Given the description of an element on the screen output the (x, y) to click on. 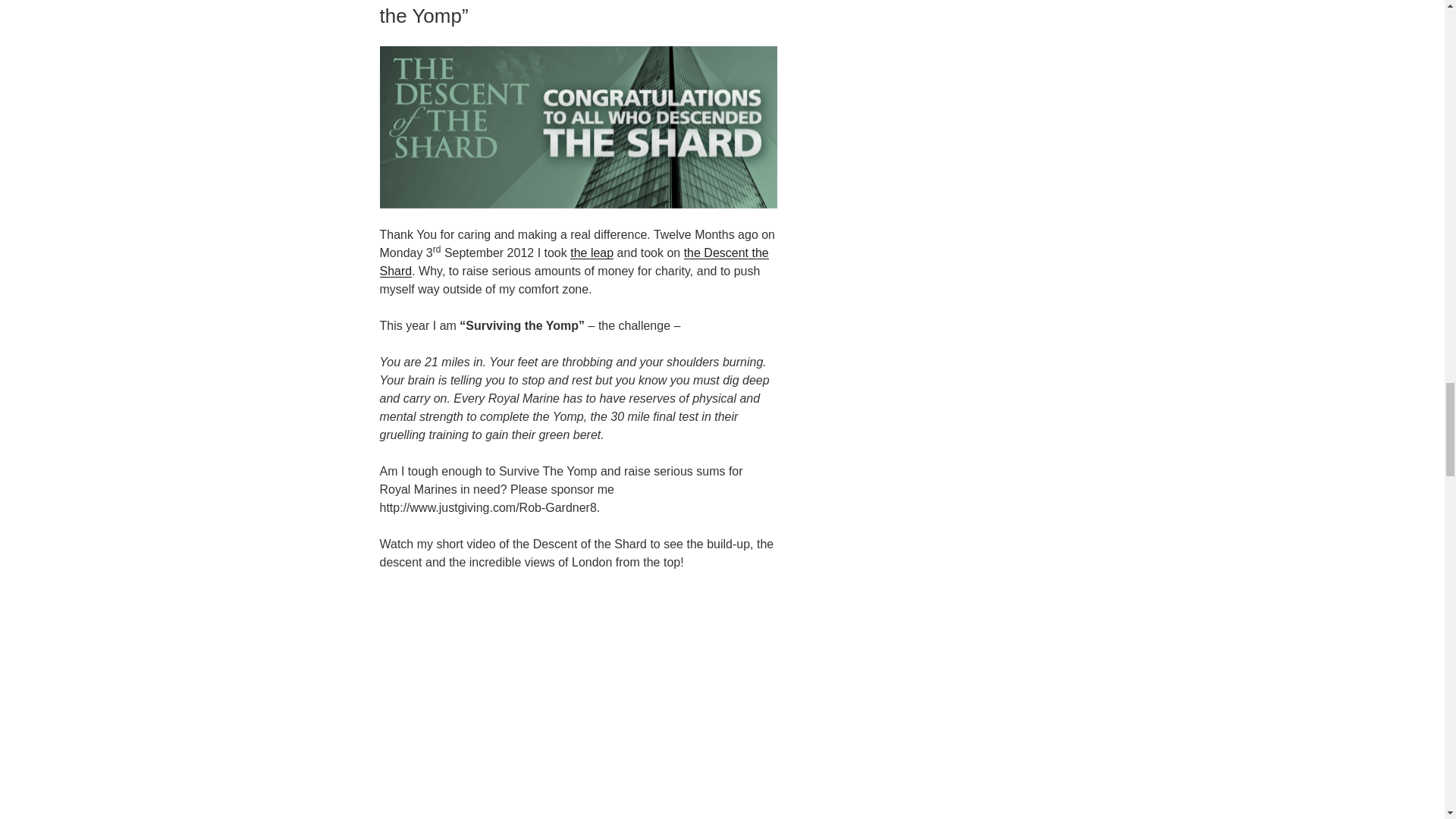
the Descent the Shard (573, 261)
the leap (591, 252)
